Given the description of an element on the screen output the (x, y) to click on. 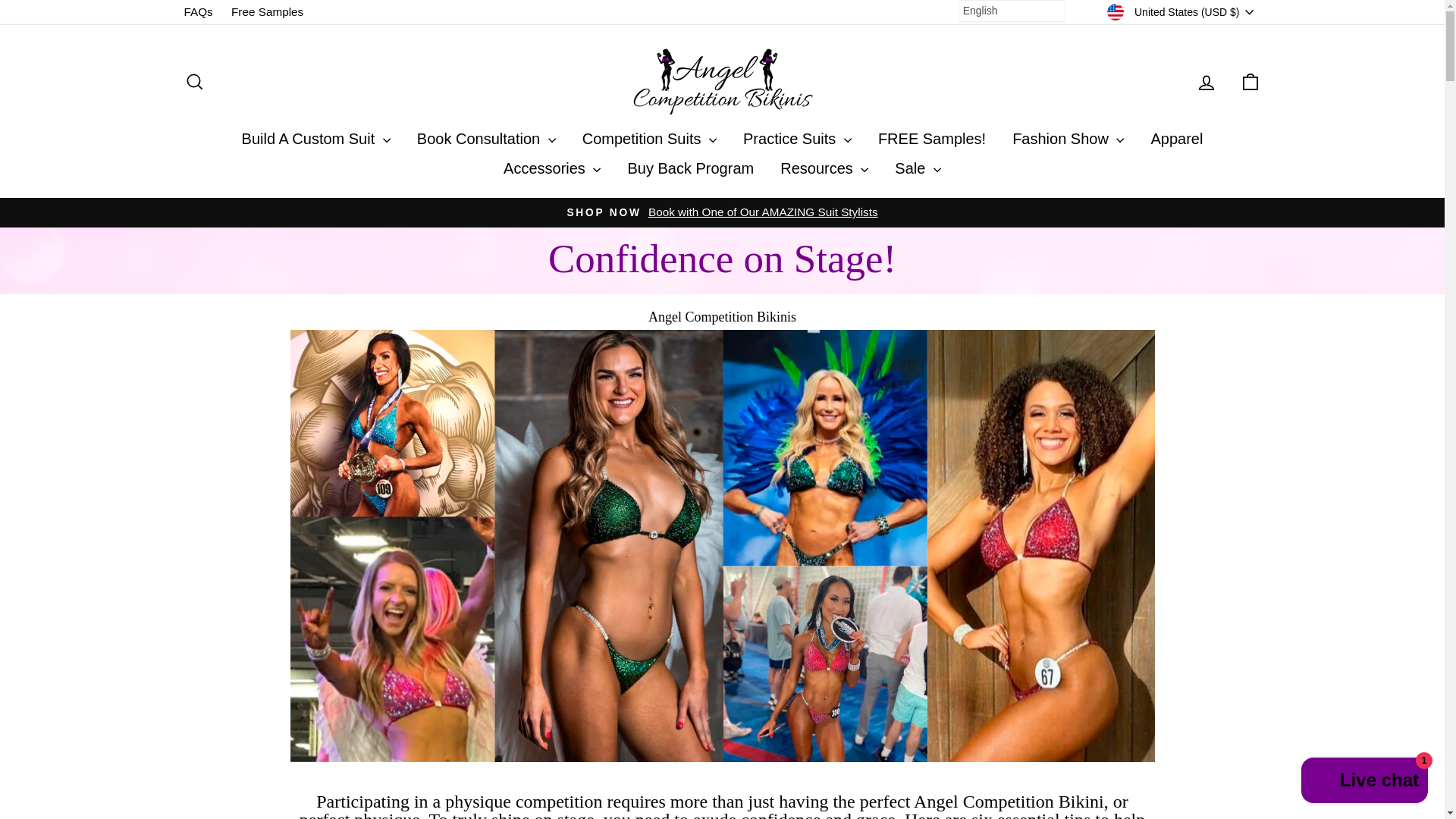
icon-search (194, 81)
icon-bag-minimal (1249, 81)
account (1206, 82)
